Given the description of an element on the screen output the (x, y) to click on. 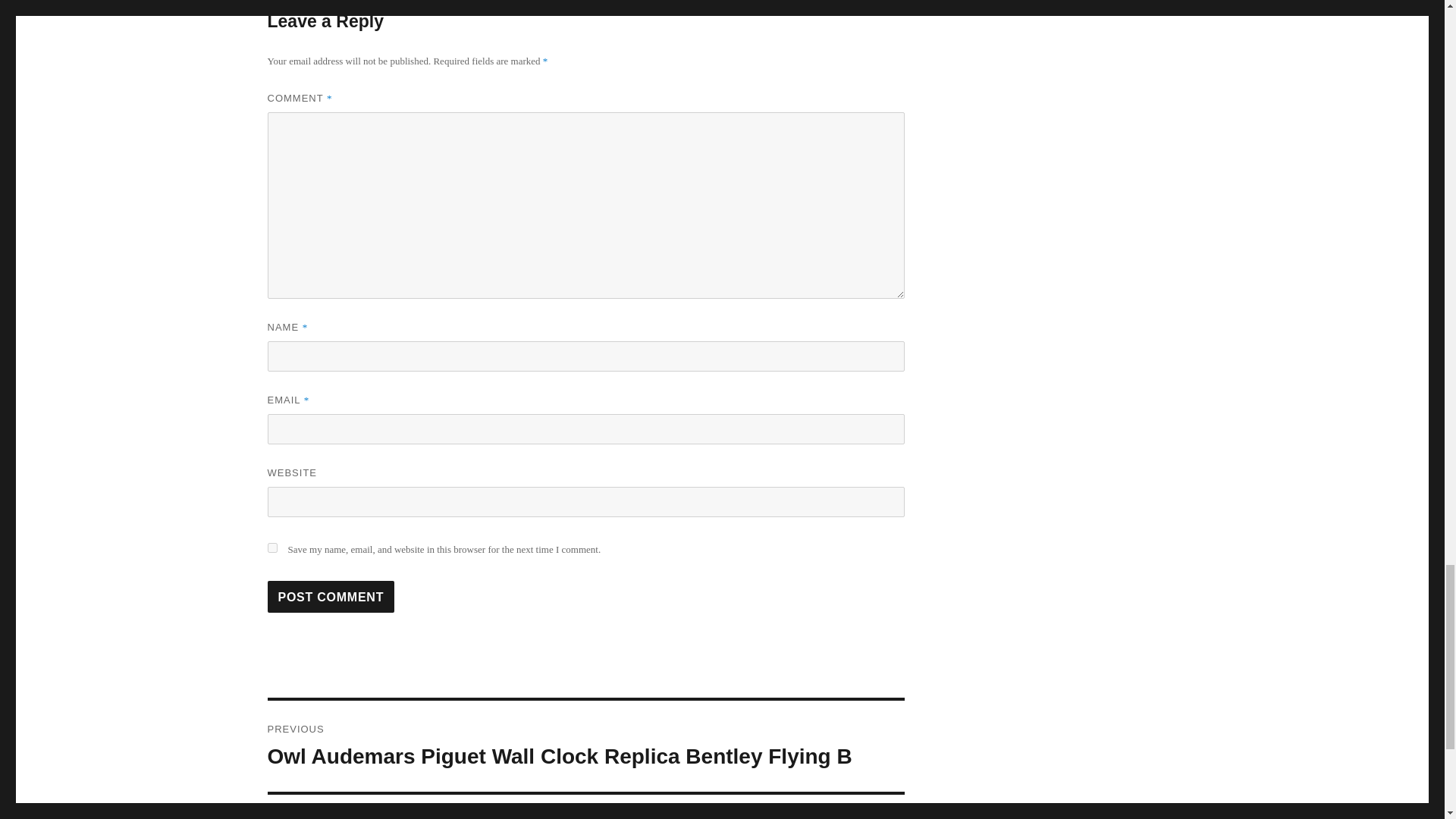
yes (271, 547)
Post Comment (330, 596)
Post Comment (330, 596)
